Given the description of an element on the screen output the (x, y) to click on. 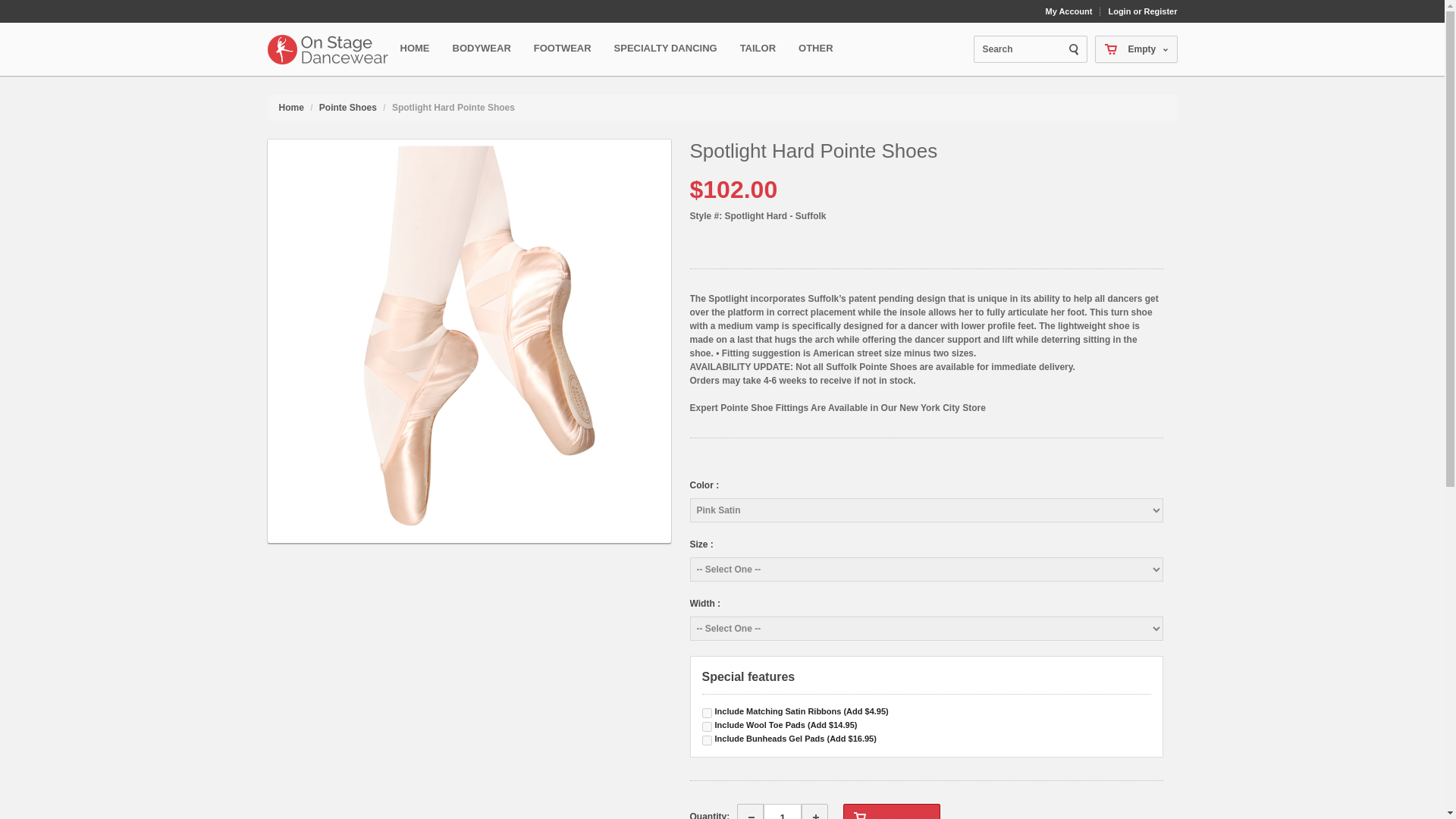
Login or Register (1142, 11)
My Account (1072, 11)
Return to Home (291, 107)
View my customer account (1072, 11)
Add to cart (891, 811)
Search (1030, 49)
Login or Register (1142, 11)
on (706, 740)
HOME (414, 48)
1 (782, 811)
